Given the description of an element on the screen output the (x, y) to click on. 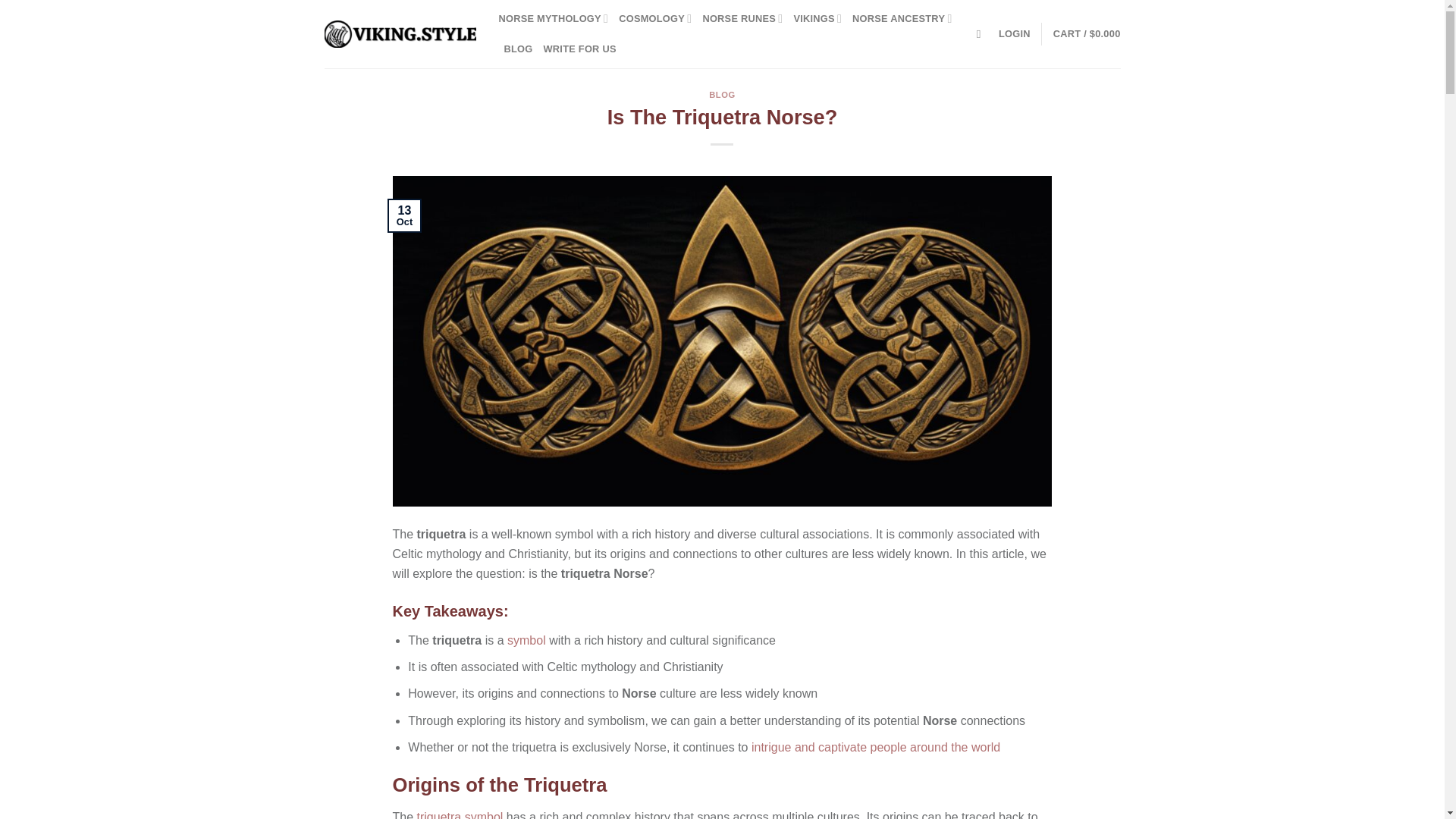
Cart (1086, 33)
Viking Style (400, 34)
Login (1014, 33)
NORSE MYTHOLOGY (553, 19)
